Given the description of an element on the screen output the (x, y) to click on. 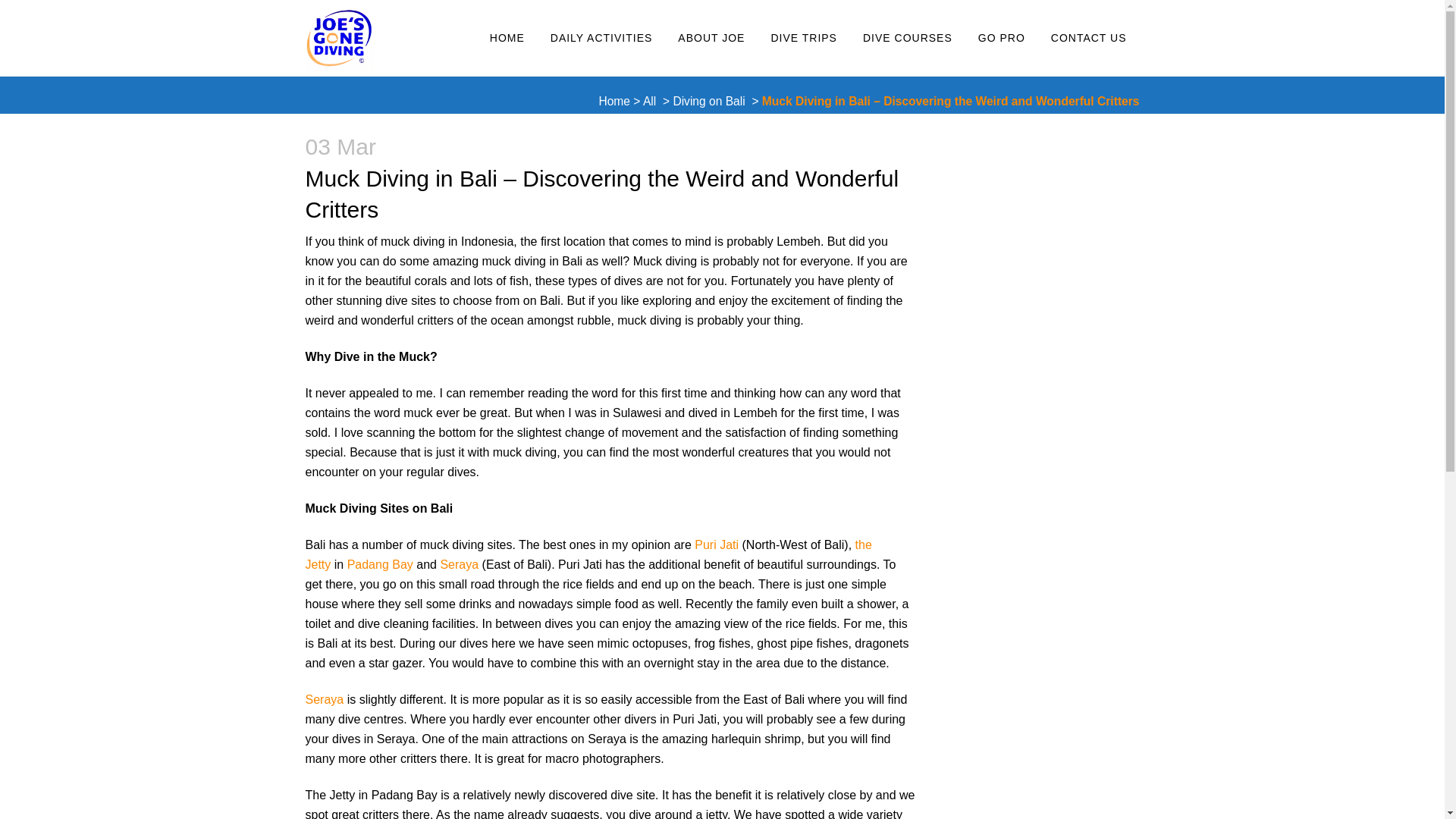
DAILY ACTIVITIES (601, 38)
ABOUT JOE (711, 38)
DIVE COURSES (907, 38)
DIVE TRIPS (803, 38)
